Given the description of an element on the screen output the (x, y) to click on. 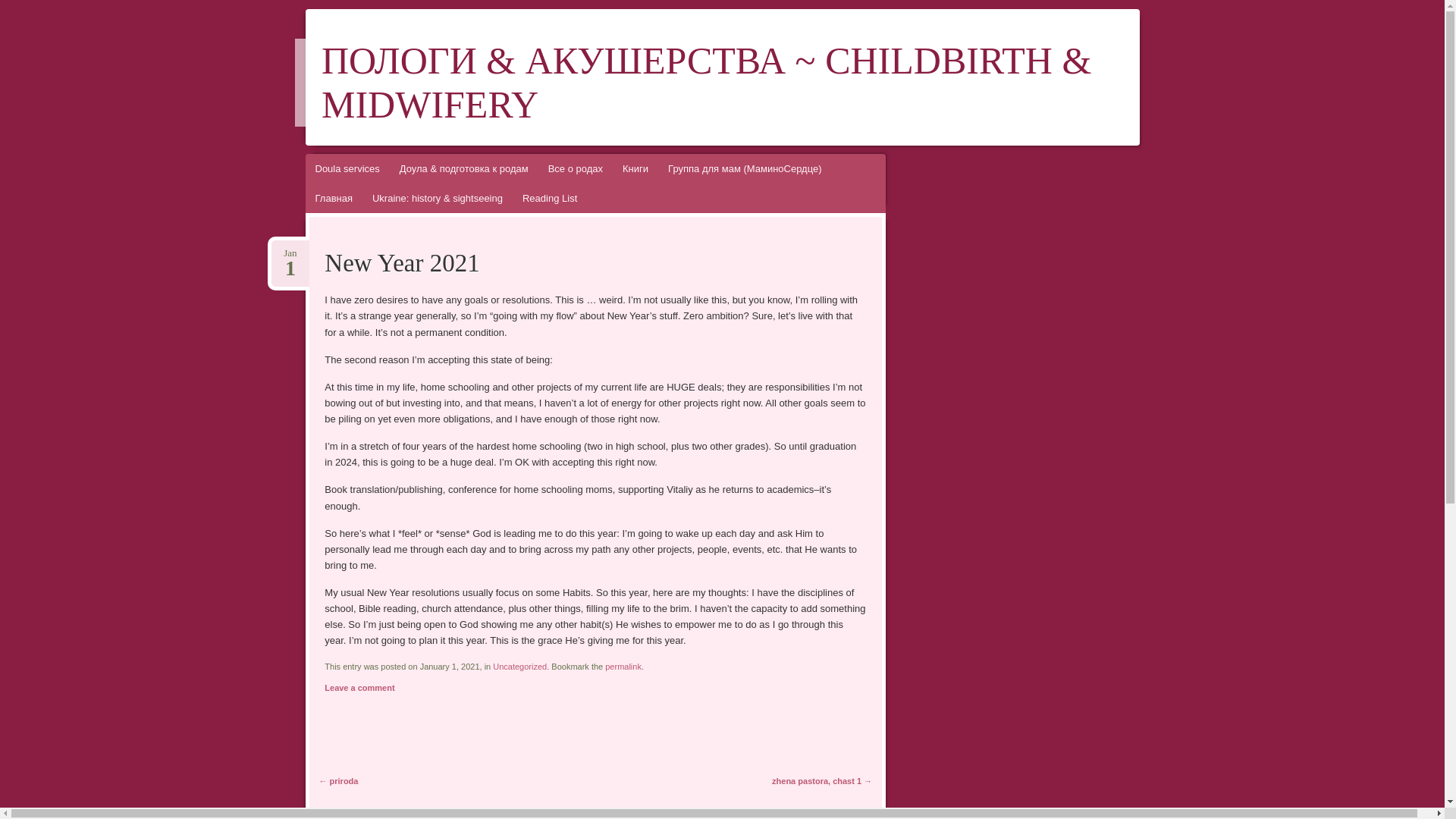
Reading List (549, 197)
Permalink to New Year 2021 (623, 665)
Doula services (346, 168)
January 1, 2021 (289, 253)
Leave a comment (359, 687)
Uncategorized (289, 253)
permalink (520, 665)
